Given the description of an element on the screen output the (x, y) to click on. 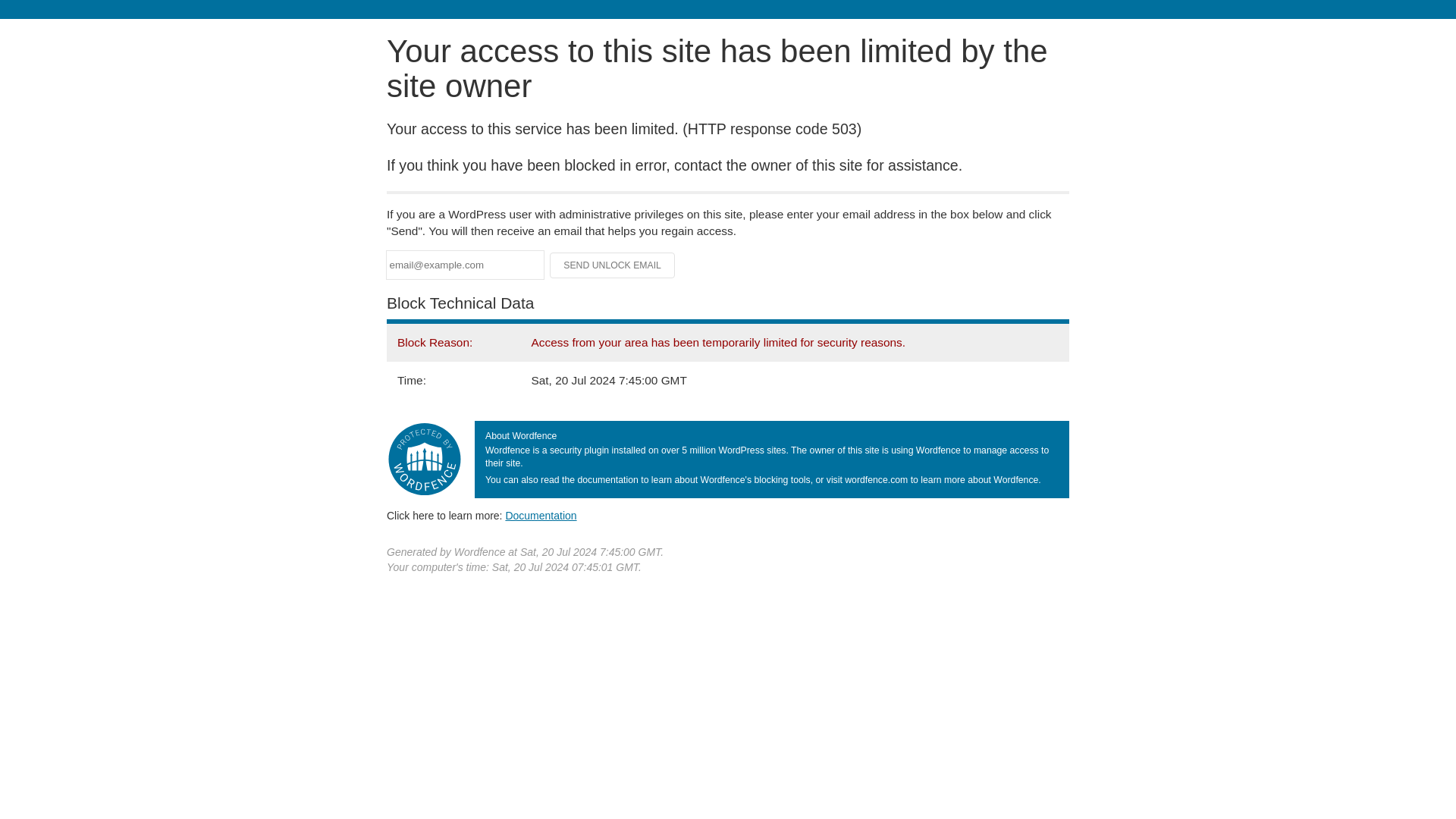
Send Unlock Email (612, 265)
Documentation (540, 515)
Send Unlock Email (612, 265)
